Given the description of an element on the screen output the (x, y) to click on. 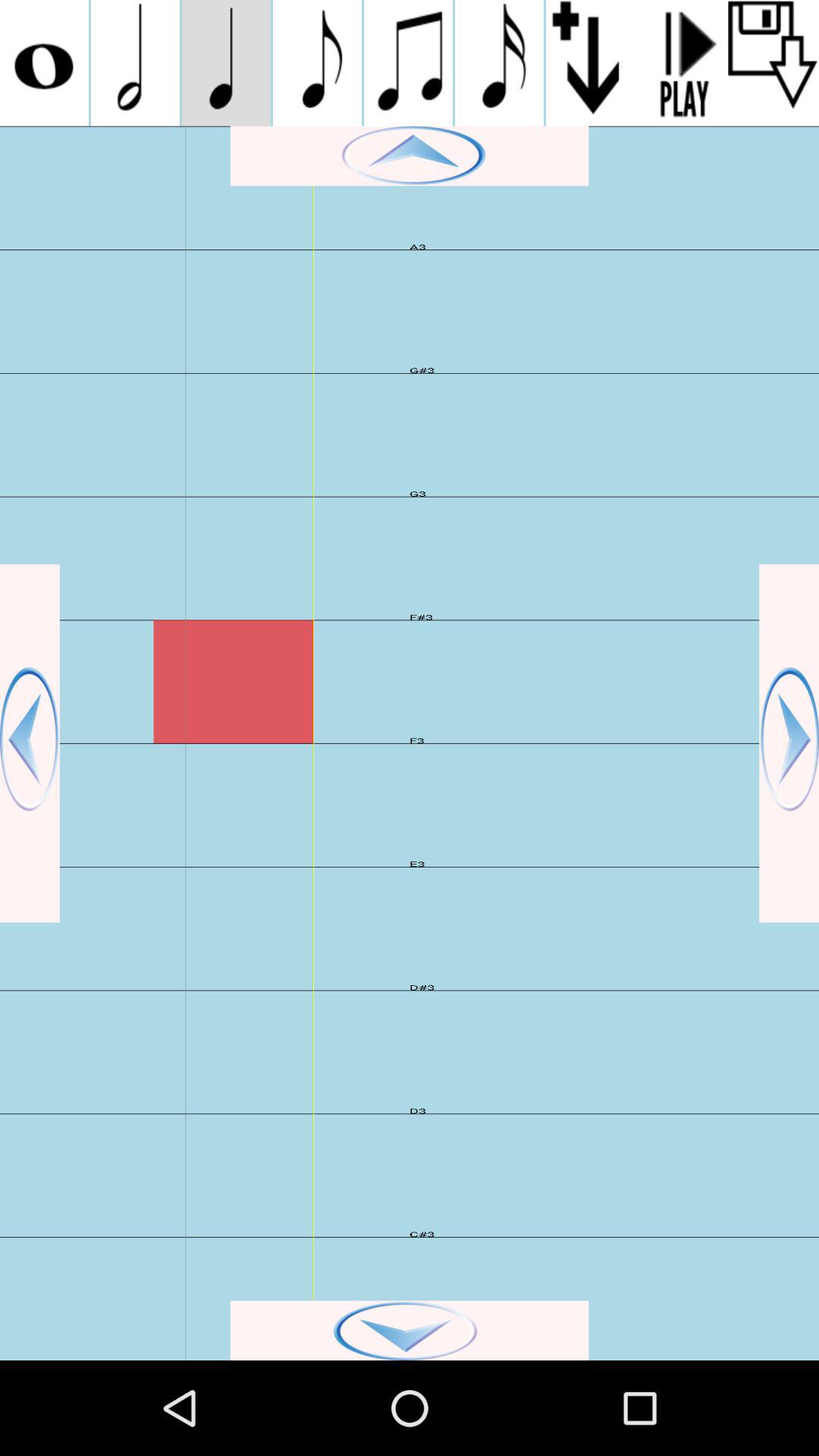
play music (682, 63)
